Given the description of an element on the screen output the (x, y) to click on. 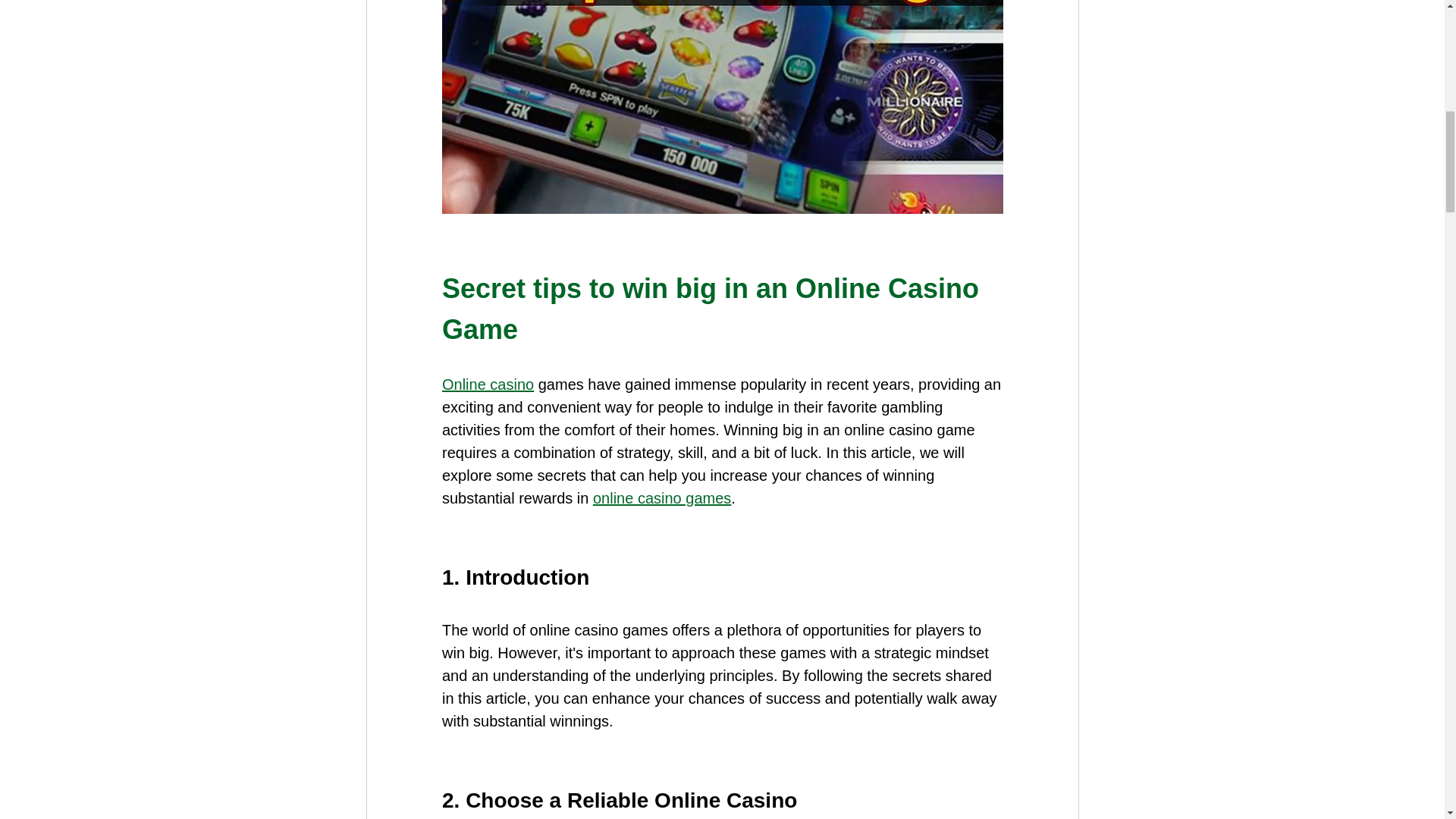
Online casino (486, 384)
online casino games (661, 497)
